Given the description of an element on the screen output the (x, y) to click on. 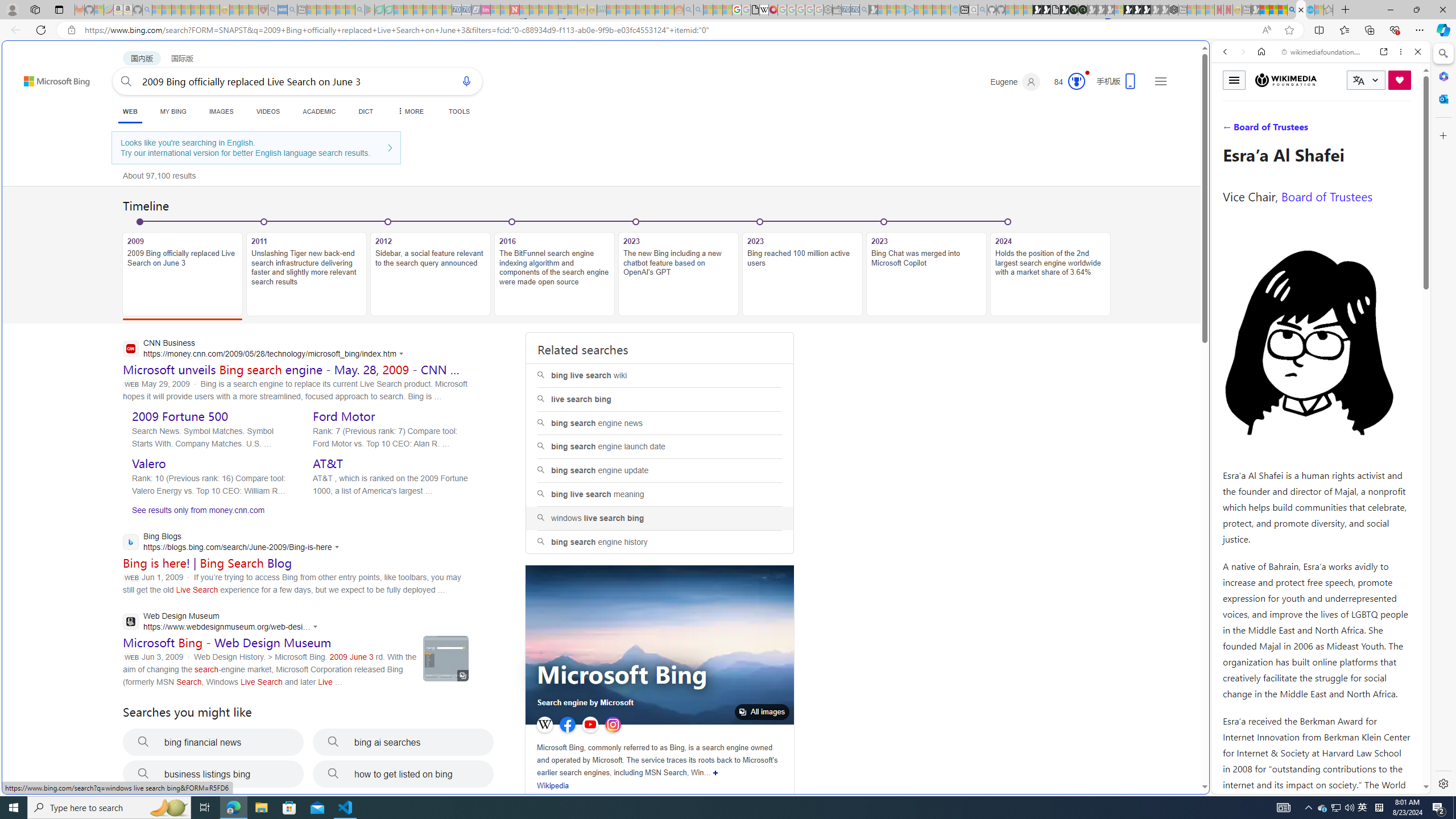
World - MSN (727, 389)
Settings and quick links (1160, 80)
Animation (1086, 72)
business listings bing (213, 773)
14 Common Myths Debunked By Scientific Facts - Sleeping (533, 9)
Close split screen (1208, 57)
20092009 Bing officially replaced Live Search on June 3 (181, 267)
SEARCH TOOLS (1350, 130)
MediaWiki (773, 9)
